Given the description of an element on the screen output the (x, y) to click on. 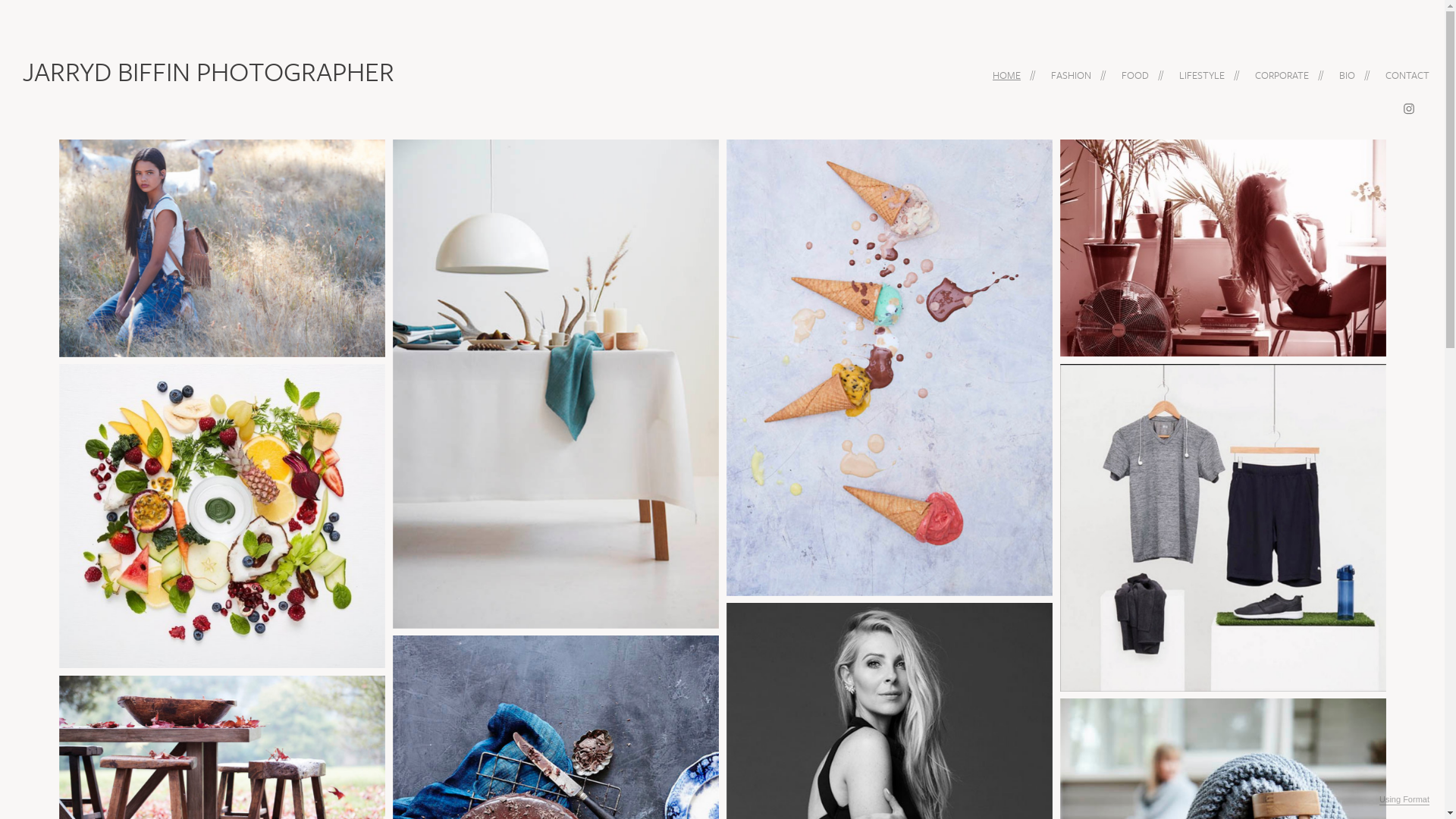
LIFESTYLE Element type: text (1201, 73)
JARRYD BIFFIN PHOTOGRAPHER Element type: text (208, 67)
FASHION Element type: text (1071, 73)
CONTACT Element type: text (1407, 73)
CORPORATE Element type: text (1281, 73)
HOME Element type: text (1006, 73)
BIO Element type: text (1347, 73)
Using Format Element type: text (1404, 799)
FOOD Element type: text (1134, 73)
